Given the description of an element on the screen output the (x, y) to click on. 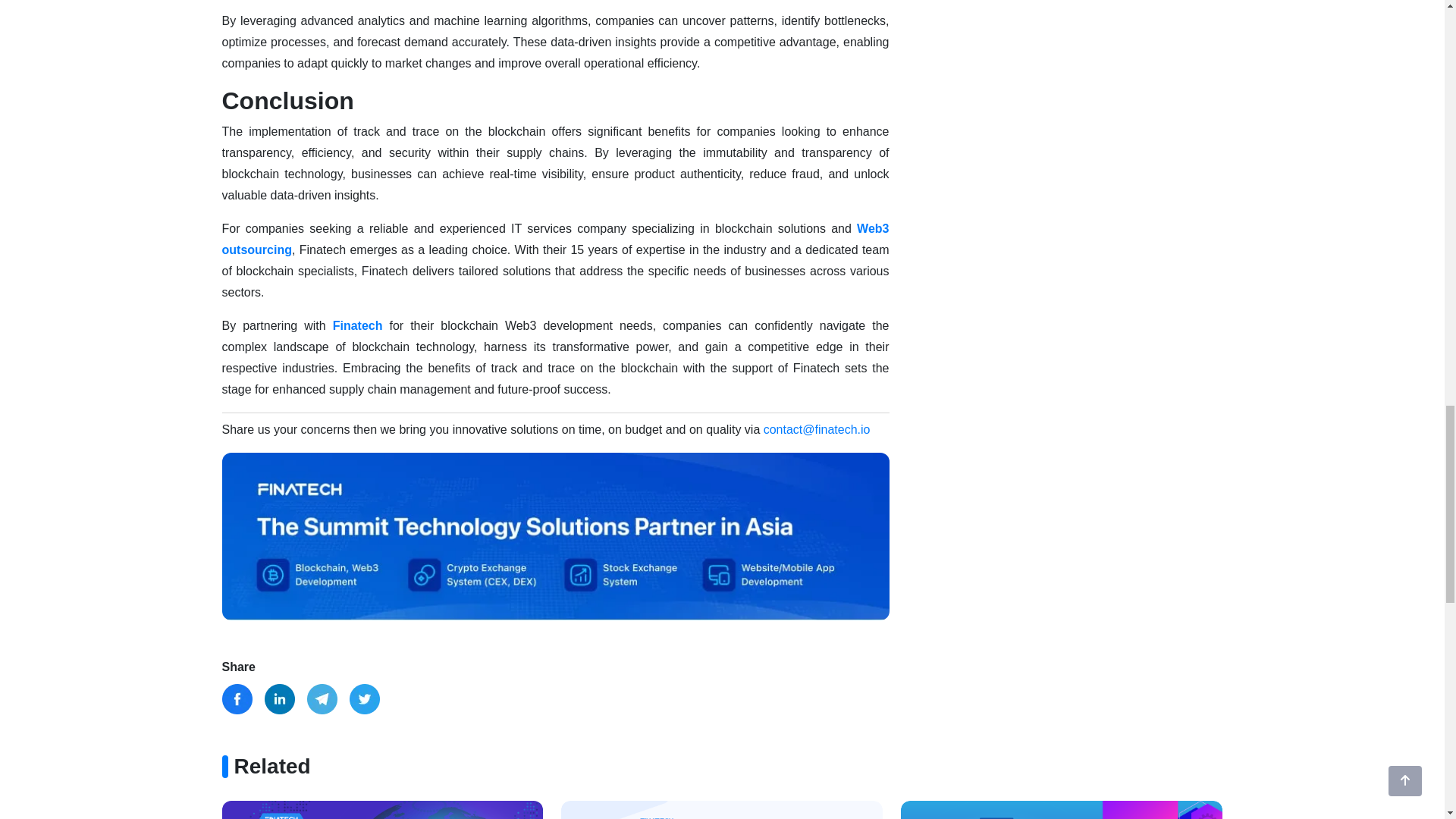
Finatech (357, 325)
Web3 outsourcing (554, 238)
